Given the description of an element on the screen output the (x, y) to click on. 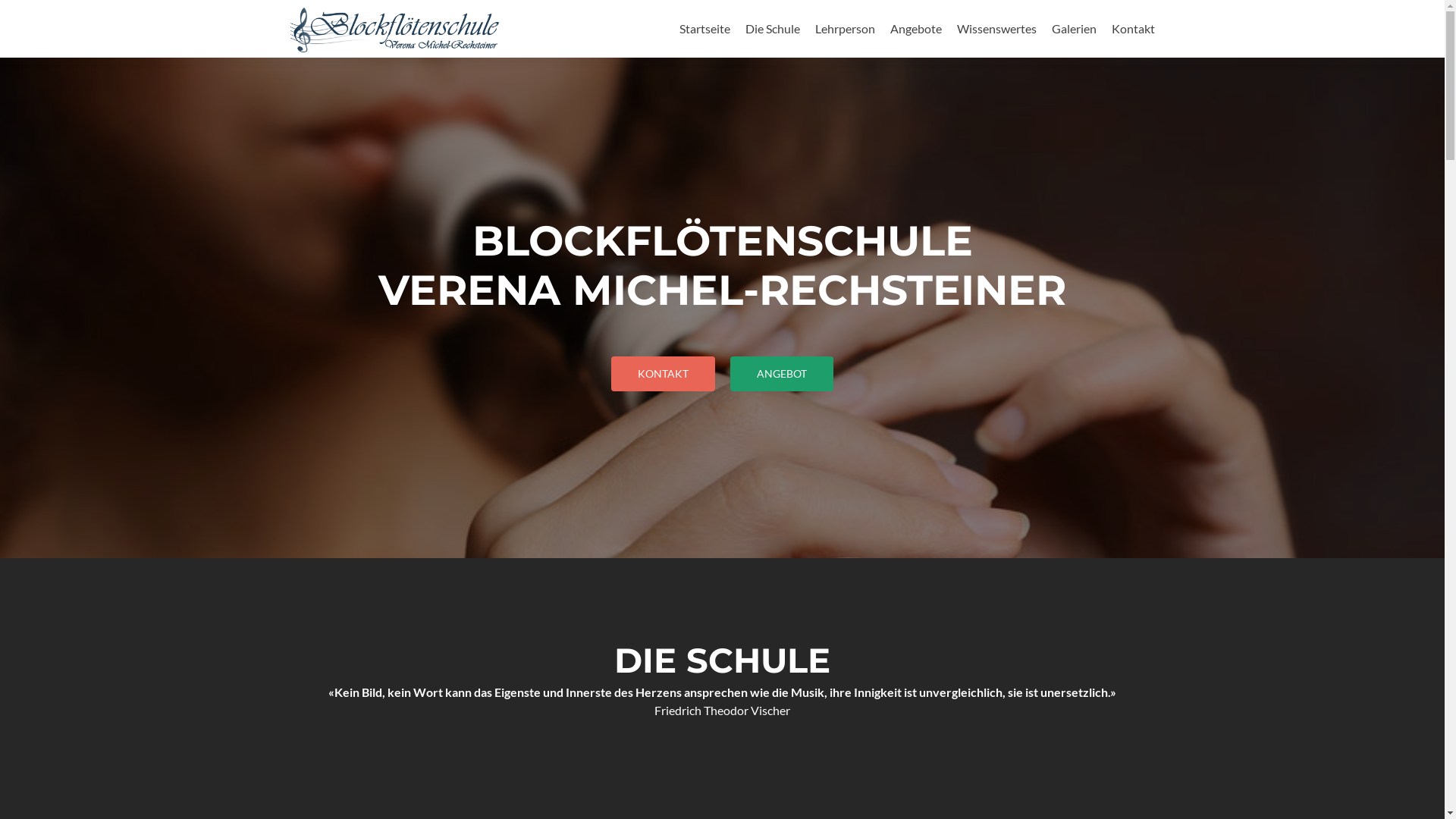
Kontakt Element type: text (1132, 28)
Die Schule Element type: text (771, 28)
Angebote Element type: text (915, 28)
Galerien Element type: text (1073, 28)
ANGEBOT Element type: text (781, 373)
Wissenswertes Element type: text (996, 28)
KONTAKT Element type: text (663, 373)
Lehrperson Element type: text (844, 28)
Startseite Element type: text (704, 28)
